Given the description of an element on the screen output the (x, y) to click on. 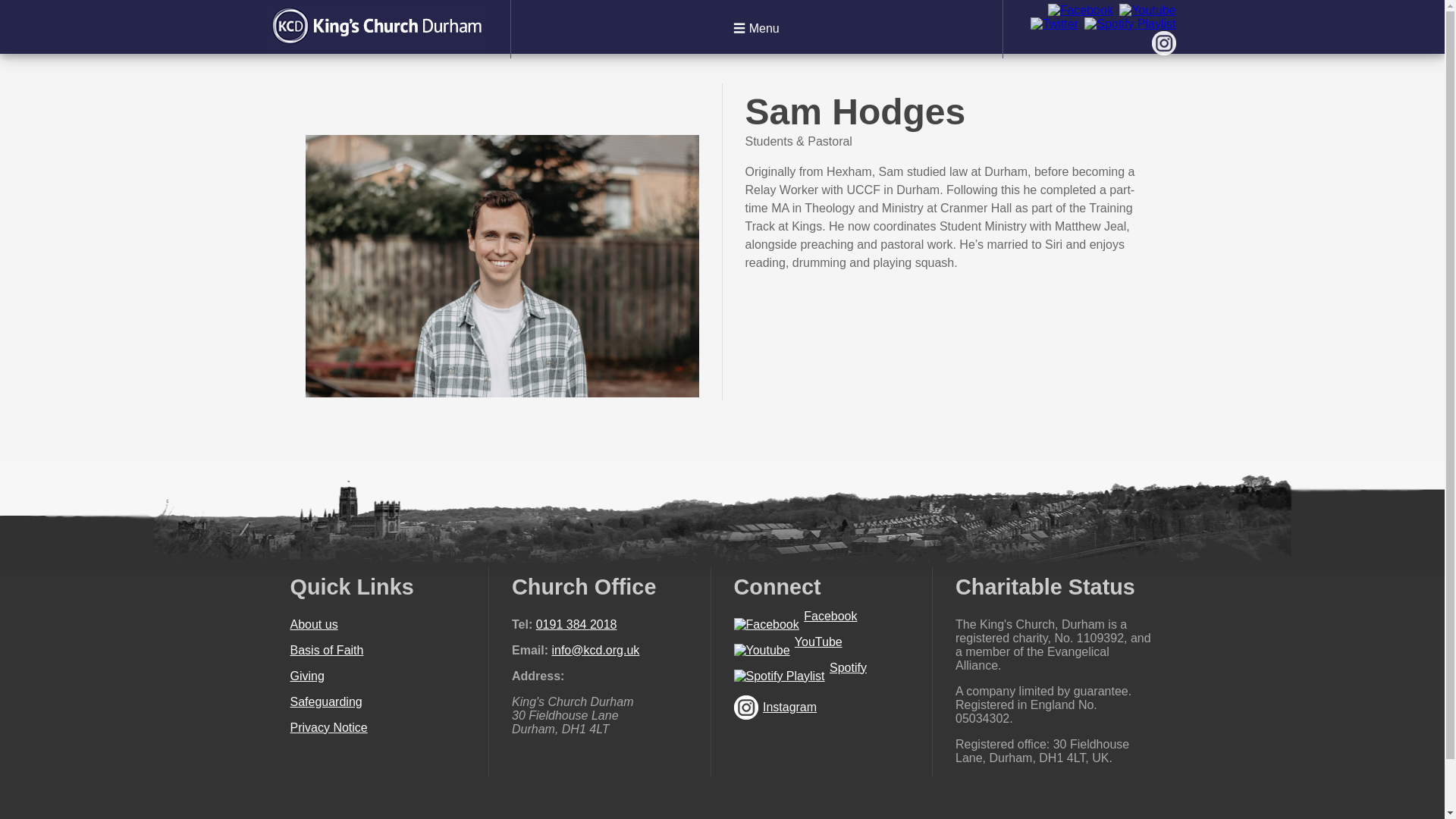
Basis of Faith (325, 649)
About us (313, 624)
Giving (306, 675)
Privacy Notice (327, 727)
YouTube (818, 641)
0191 384 2018 (576, 624)
Facebook (830, 615)
Safeguarding (325, 701)
